Given the description of an element on the screen output the (x, y) to click on. 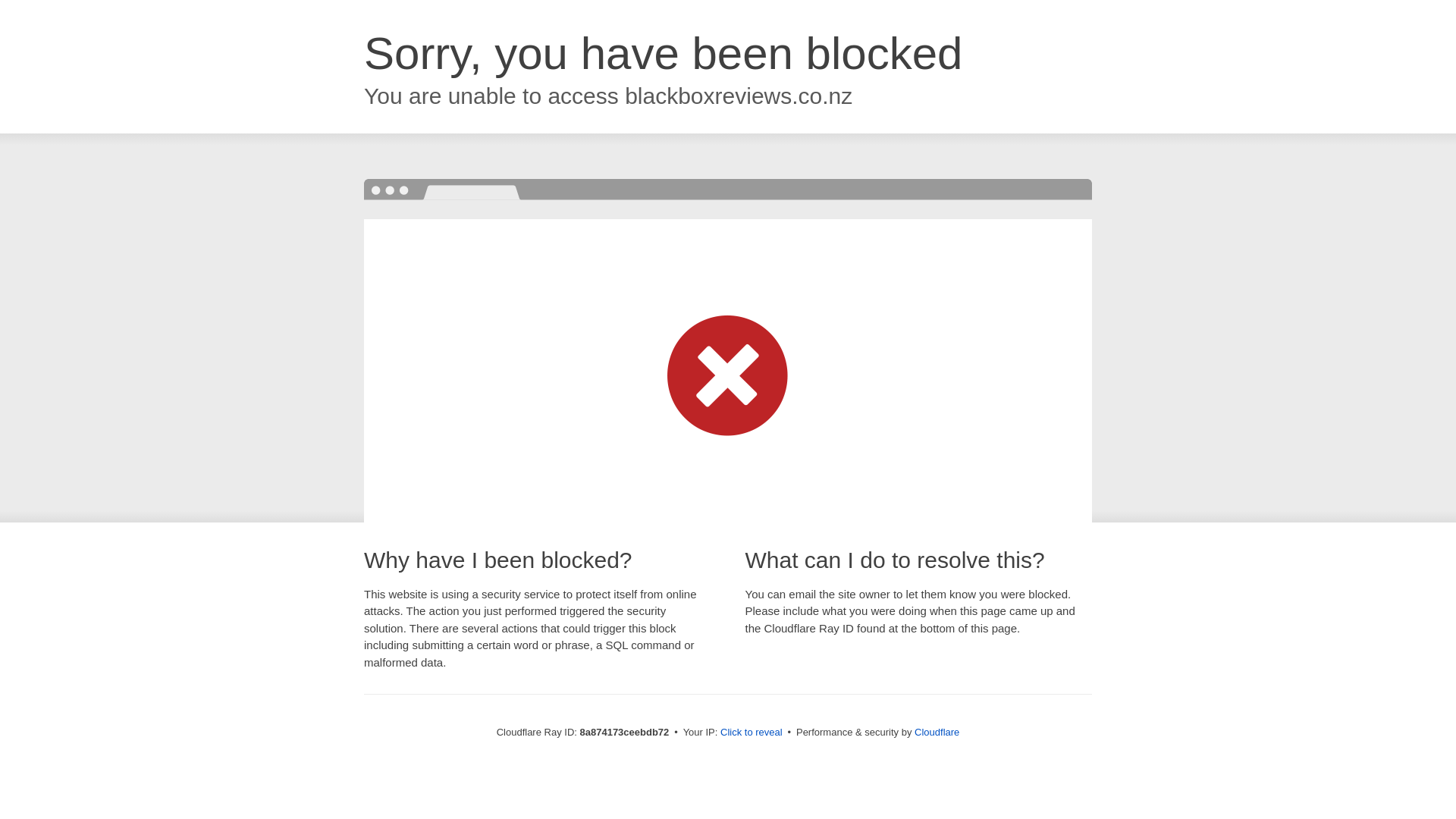
Cloudflare (936, 731)
Click to reveal (751, 732)
